Given the description of an element on the screen output the (x, y) to click on. 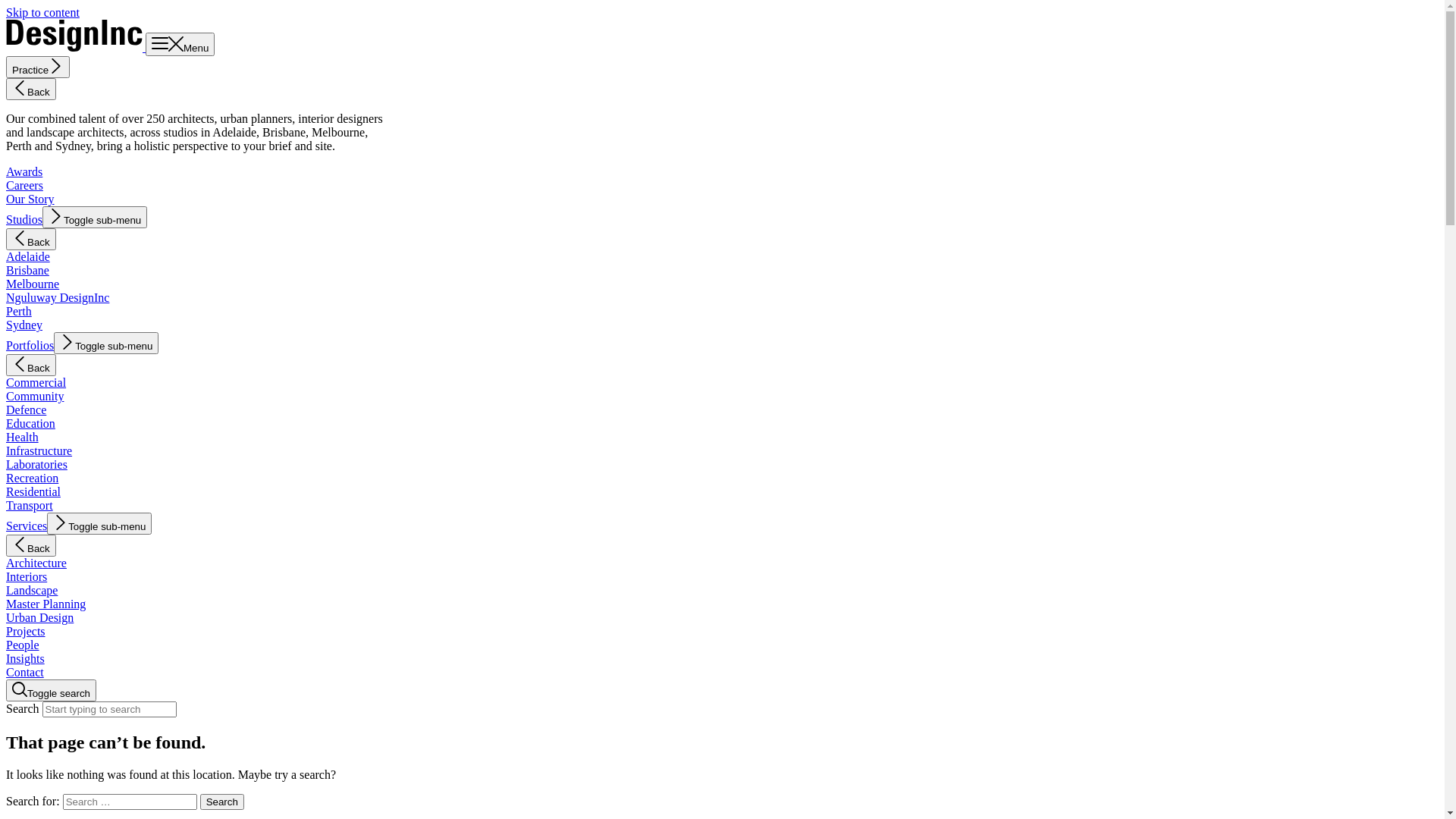
Contact Element type: text (24, 671)
Studios Element type: text (24, 219)
Interiors Element type: text (26, 576)
Back Element type: text (31, 89)
Transport Element type: text (29, 504)
Infrastructure Element type: text (39, 450)
Residential Element type: text (33, 491)
Back Element type: text (31, 365)
Architecture Element type: text (36, 562)
Careers Element type: text (24, 184)
Toggle search Element type: text (51, 690)
Community Element type: text (34, 395)
Awards Element type: text (24, 171)
Nguluway DesignInc Element type: text (57, 297)
Back Element type: text (31, 545)
Defence Element type: text (26, 409)
Toggle sub-menu Element type: text (99, 523)
Toggle sub-menu Element type: text (105, 343)
Sydney Element type: text (24, 324)
Skip to content Element type: text (42, 12)
Education Element type: text (30, 423)
Melbourne Element type: text (32, 283)
Search for: Element type: hover (129, 801)
Services Element type: text (26, 525)
Health Element type: text (22, 436)
Urban Design Element type: text (39, 617)
Search Element type: text (222, 801)
Laboratories Element type: text (36, 464)
Landscape Element type: text (31, 589)
Adelaide Element type: text (28, 256)
Brisbane Element type: text (27, 269)
Toggle sub-menu Element type: text (94, 217)
Perth Element type: text (18, 310)
Back Element type: text (31, 239)
Recreation Element type: text (32, 477)
Portfolios Element type: text (29, 344)
Projects Element type: text (25, 630)
DesignInc Element type: text (75, 46)
Commercial Element type: text (35, 382)
Insights Element type: text (25, 658)
People Element type: text (22, 644)
Practice Element type: text (37, 67)
Our Story Element type: text (30, 198)
Menu Element type: text (179, 44)
Master Planning Element type: text (45, 603)
